Given the description of an element on the screen output the (x, y) to click on. 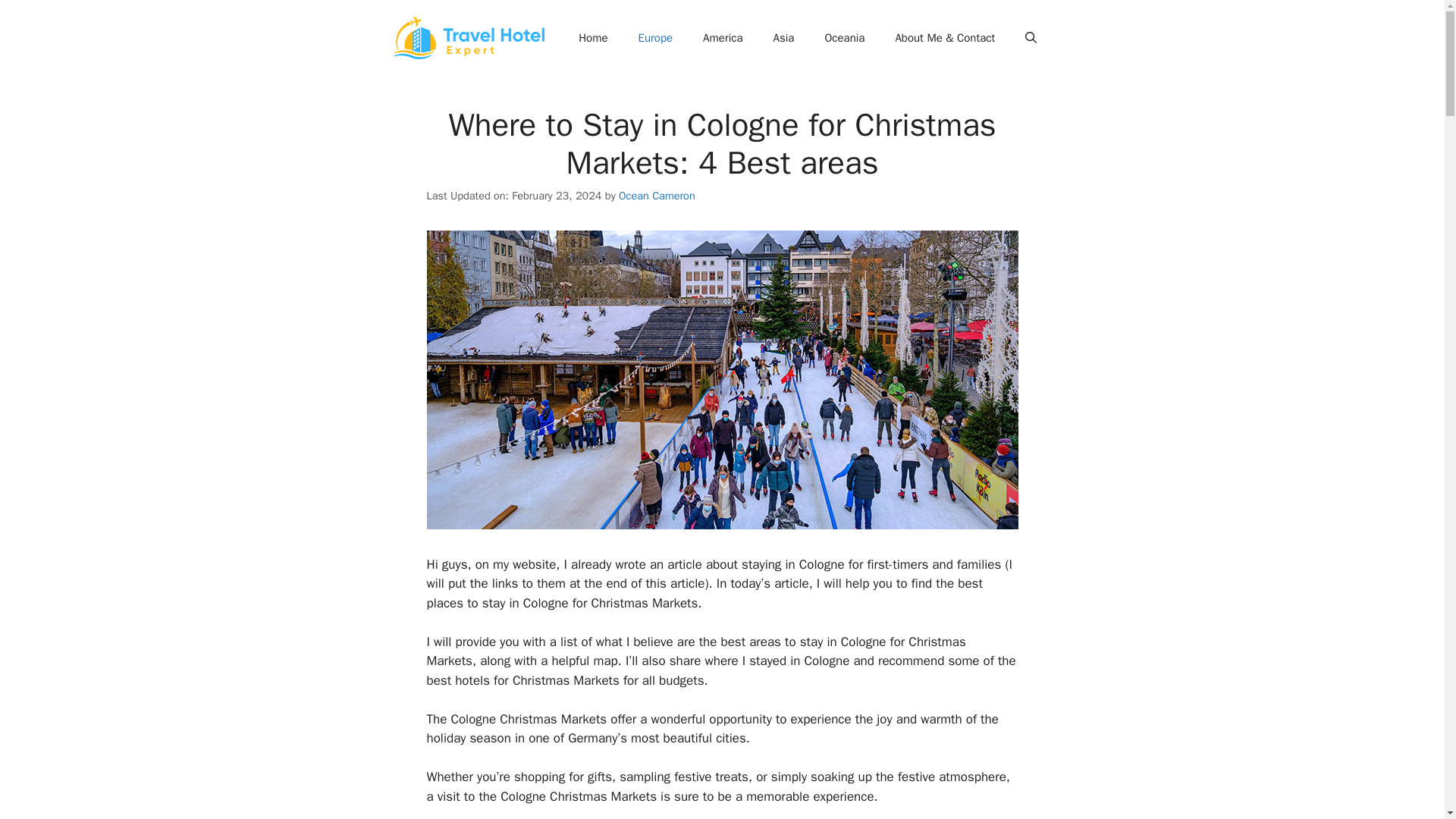
View all posts by Ocean Cameron (656, 195)
Asia (783, 37)
Europe (655, 37)
Ocean Cameron (656, 195)
Home (593, 37)
America (722, 37)
Oceania (844, 37)
